Given the description of an element on the screen output the (x, y) to click on. 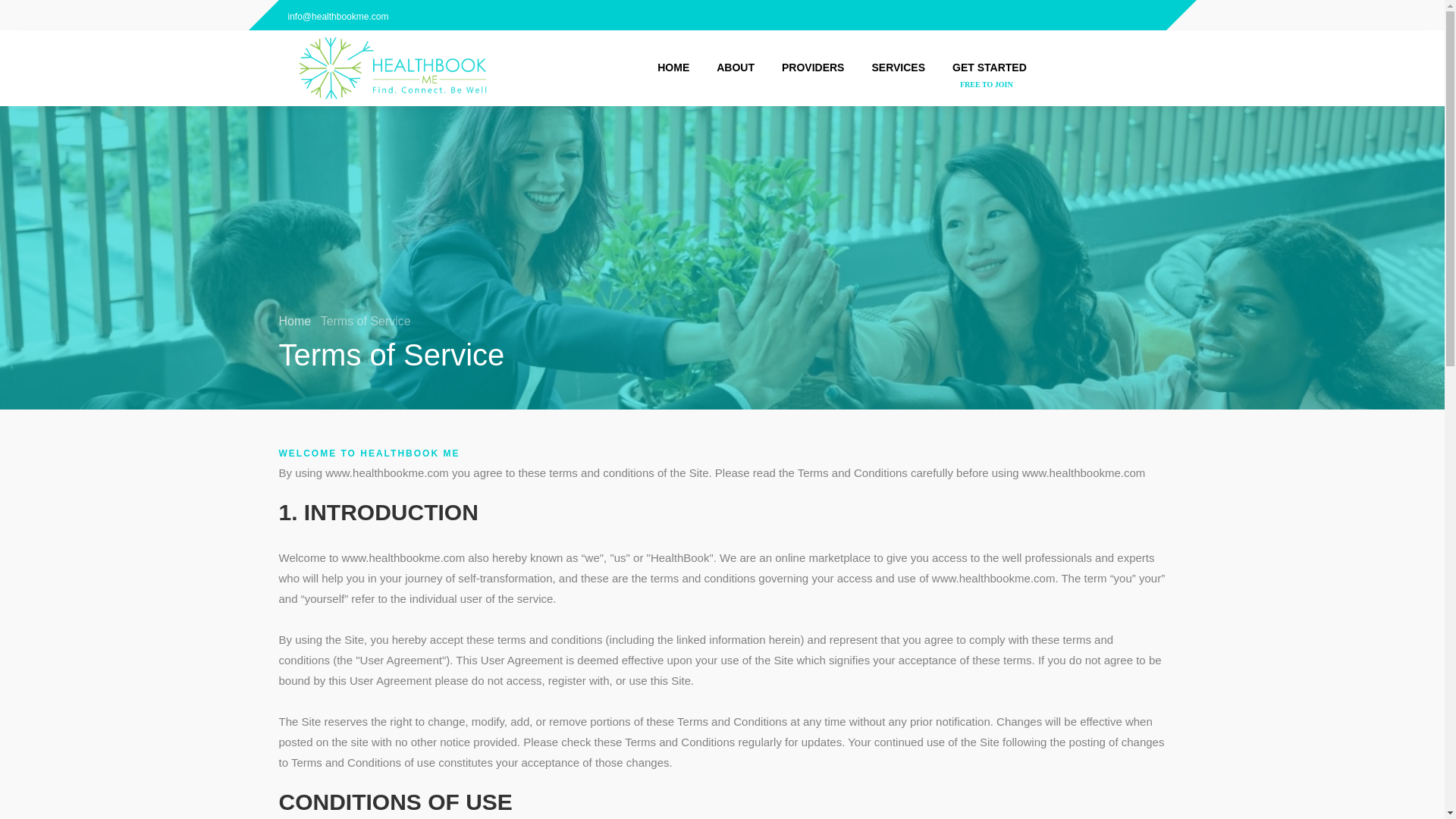
ABOUT (735, 68)
SERVICES (898, 68)
Twitter (1149, 15)
Login (1056, 15)
HOME (673, 68)
PROVIDERS (812, 68)
Contact (1086, 15)
Facebook (1118, 15)
Home (296, 320)
